Given the description of an element on the screen output the (x, y) to click on. 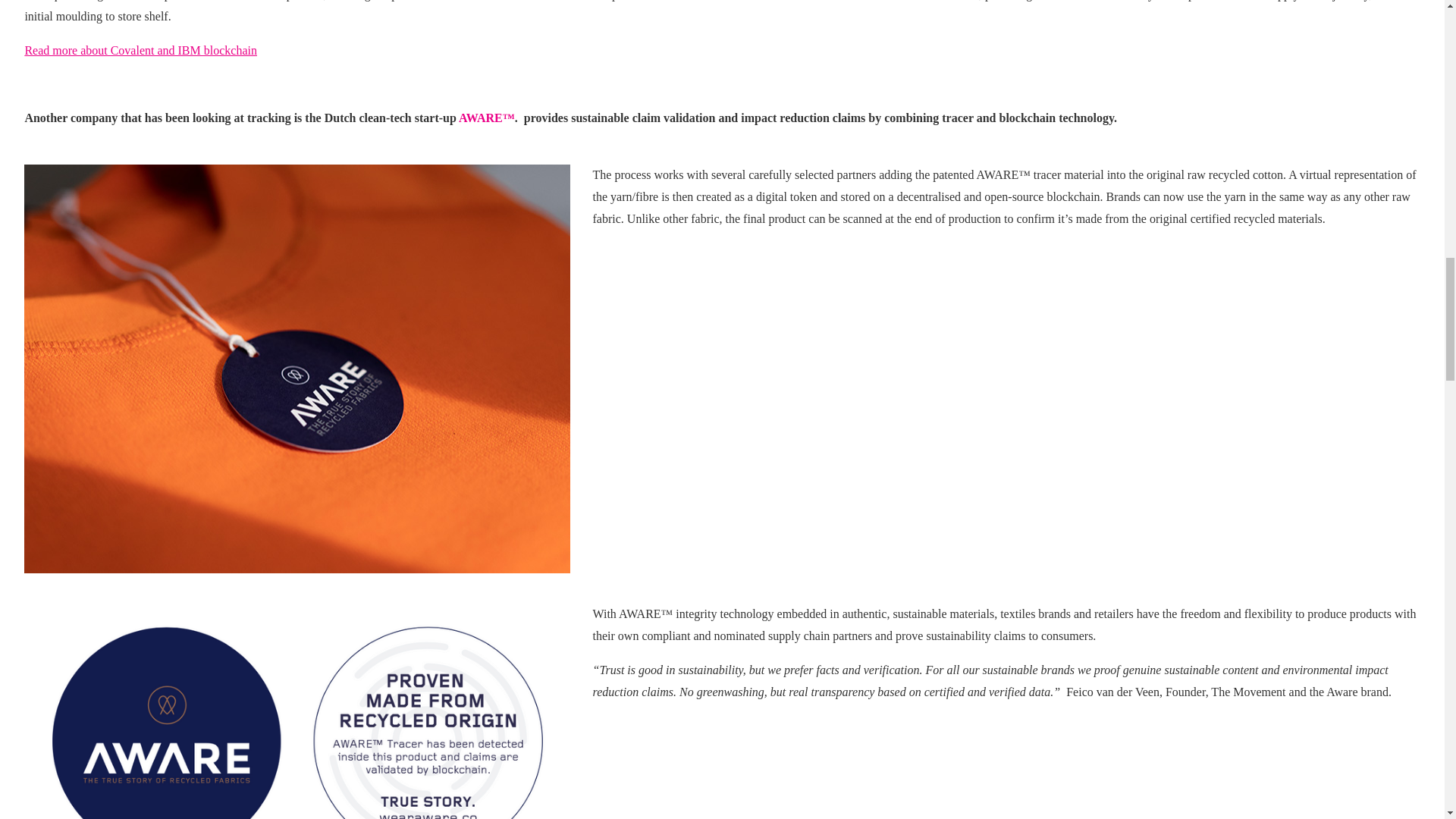
Read more about Covalent and IBM blockchain (140, 50)
